Given the description of an element on the screen output the (x, y) to click on. 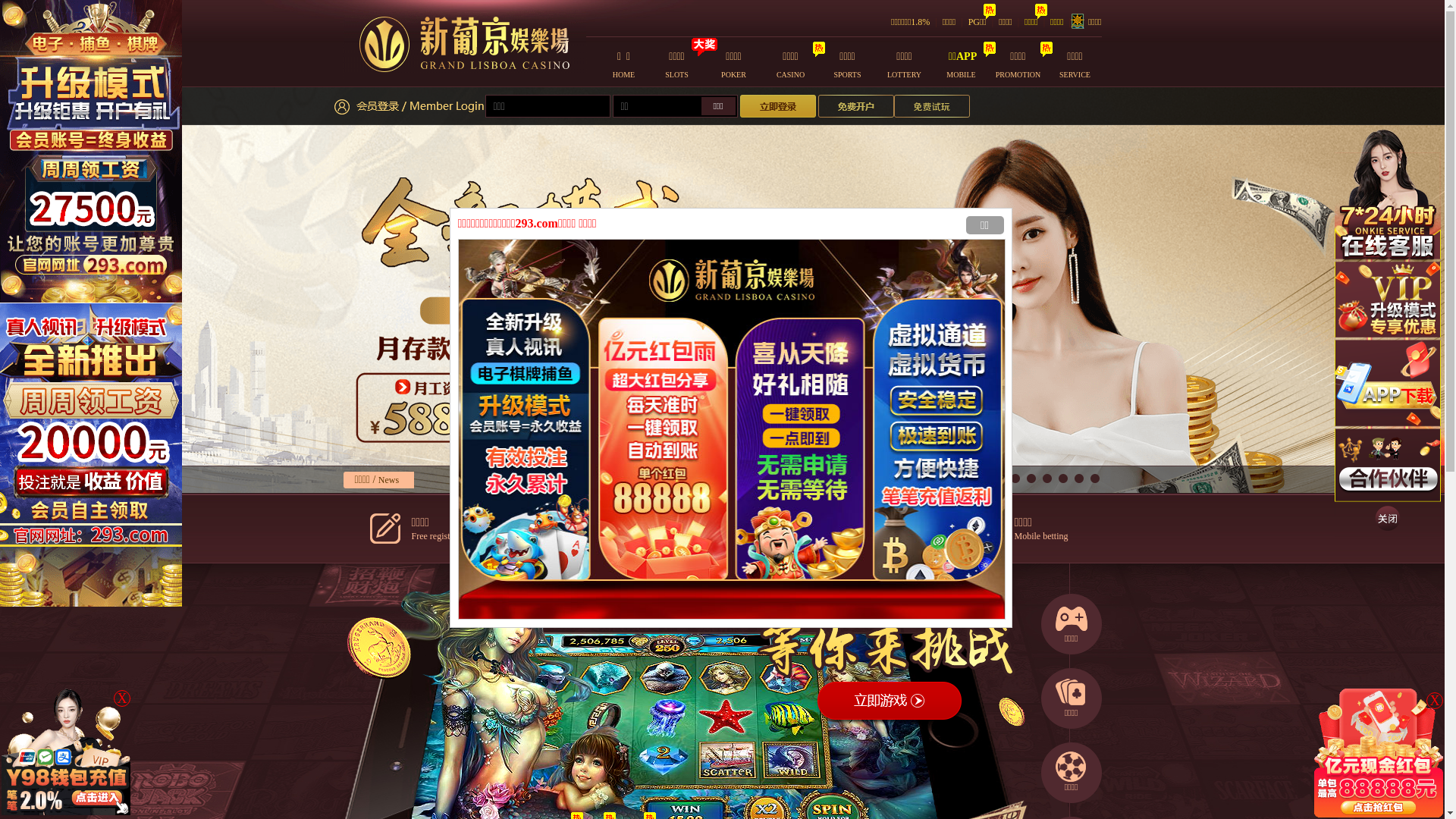
X Element type: text (1434, 700)
X Element type: text (121, 698)
